Given the description of an element on the screen output the (x, y) to click on. 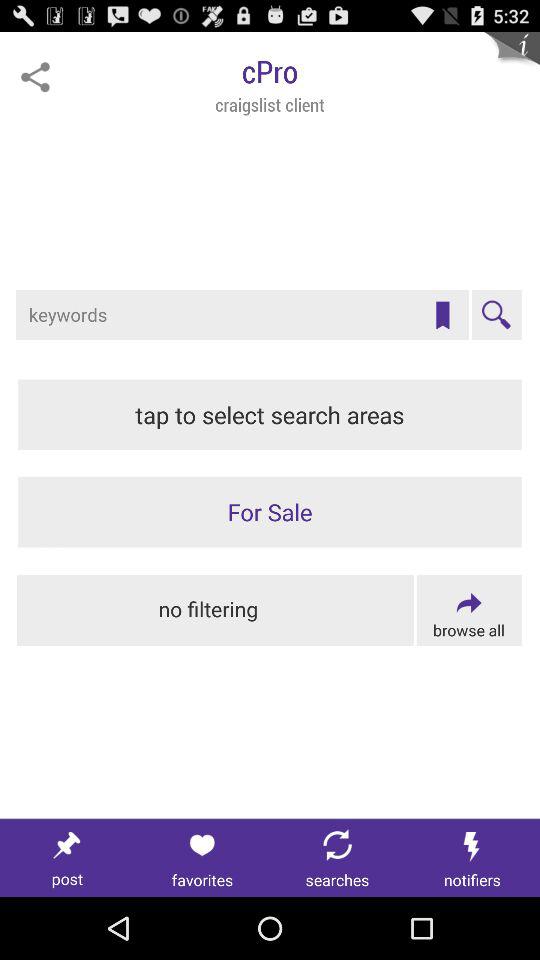
refresh searches (337, 858)
